Given the description of an element on the screen output the (x, y) to click on. 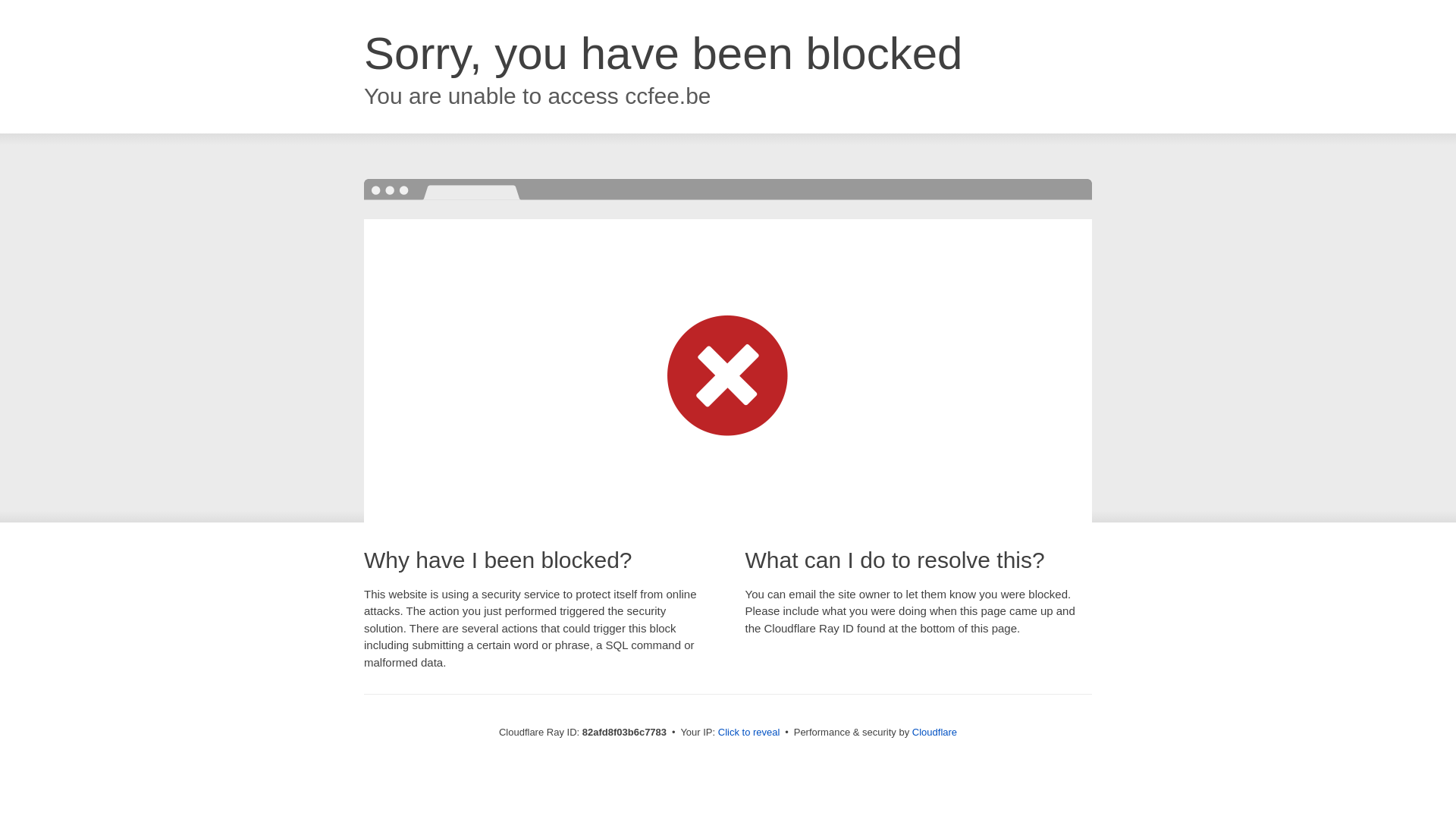
Cloudflare Element type: text (934, 731)
Click to reveal Element type: text (749, 732)
